Given the description of an element on the screen output the (x, y) to click on. 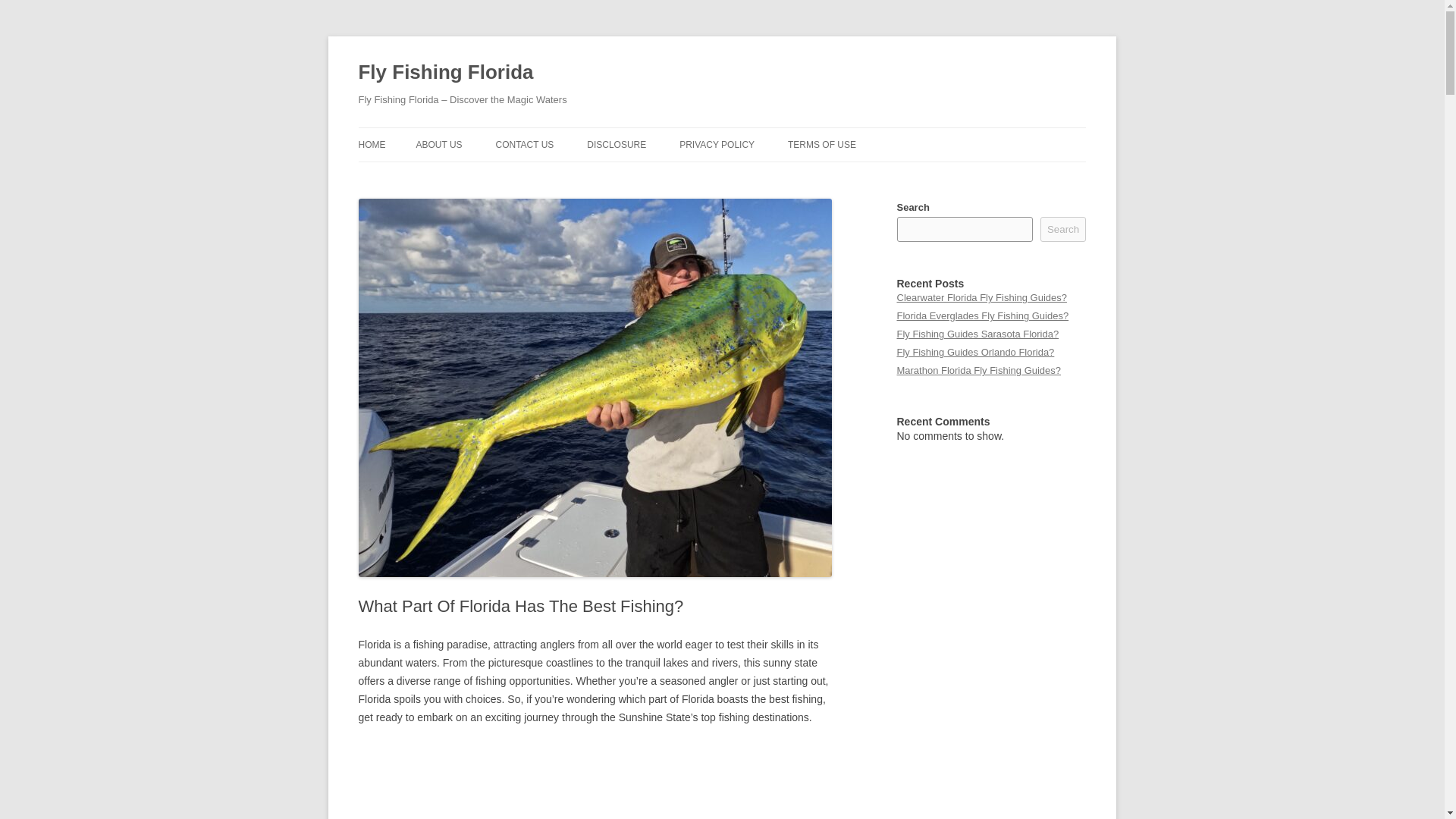
CONTACT US (524, 144)
DISCLOSURE (616, 144)
PRIVACY POLICY (716, 144)
TERMS OF USE (821, 144)
Fly Fishing Florida (445, 72)
ABOUT US (437, 144)
